Given the description of an element on the screen output the (x, y) to click on. 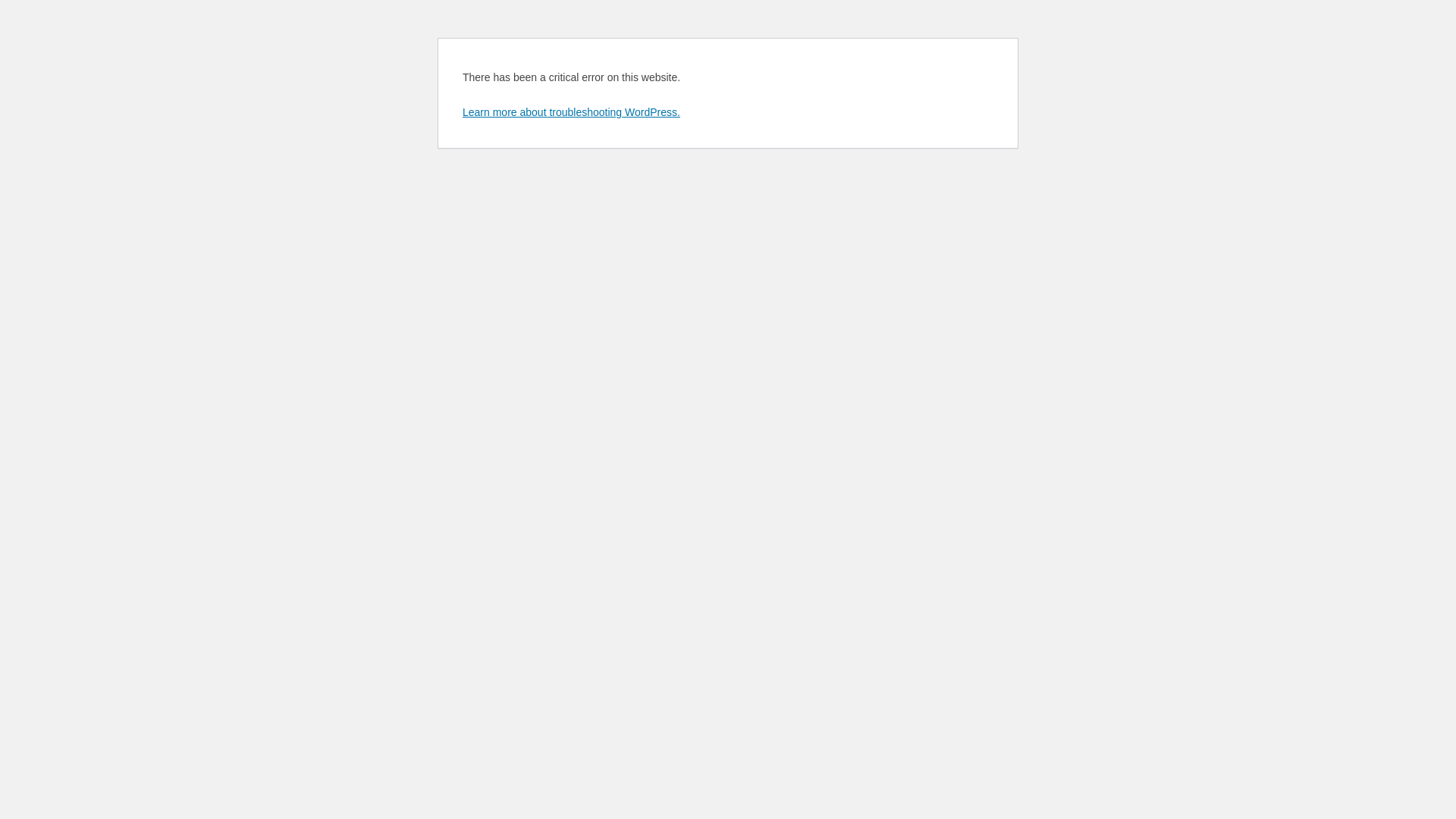
Learn more about troubleshooting WordPress. Element type: text (571, 112)
